Given the description of an element on the screen output the (x, y) to click on. 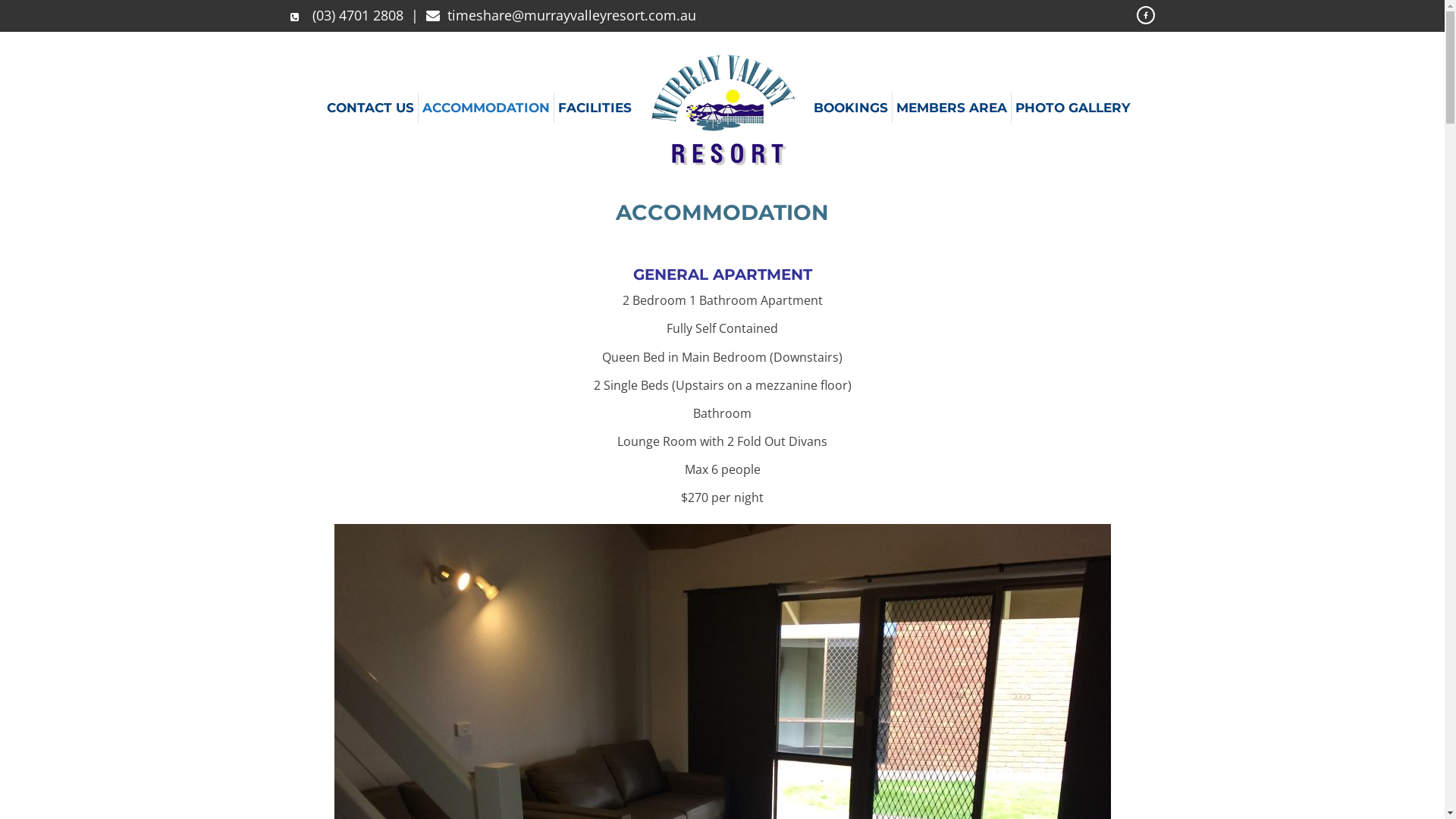
ACCOMMODATION Element type: text (485, 107)
FACILITIES Element type: text (593, 107)
MEMBERS AREA Element type: text (950, 107)
CONTACT US Element type: text (370, 107)
PHOTO GALLERY Element type: text (1072, 107)
BOOKINGS Element type: text (850, 107)
timeshare@murrayvalleyresort.com.au Element type: text (571, 15)
